Given the description of an element on the screen output the (x, y) to click on. 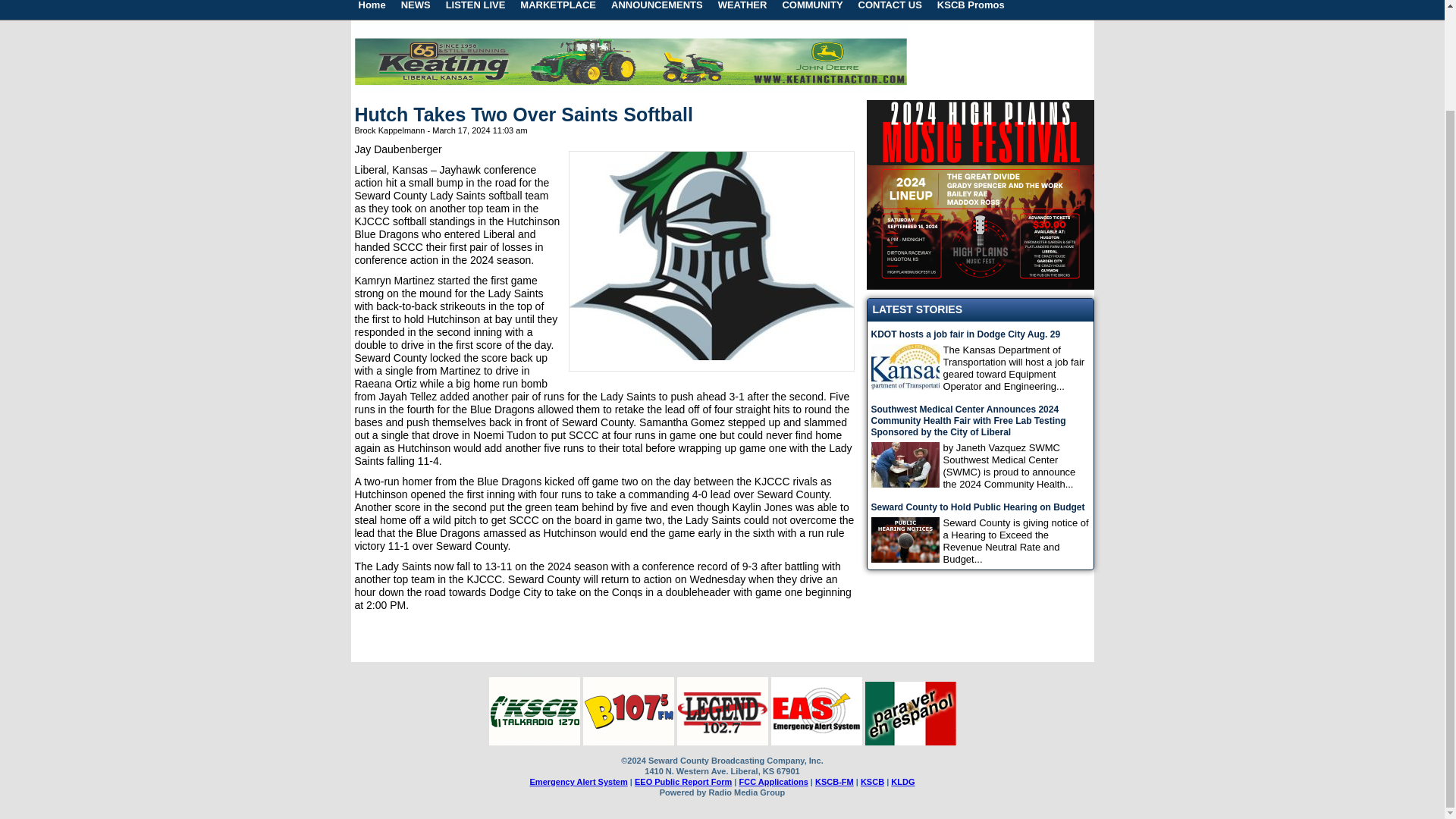
MARKETPLACE (558, 9)
COMMUNITY (812, 9)
NEWS (415, 9)
CONTACT US (890, 9)
Home (371, 9)
ANNOUNCEMENTS (657, 9)
KDOT hosts a job fair in Dodge City Aug. 29 (979, 334)
LISTEN LIVE (475, 9)
KSCB Promos (970, 9)
